Given the description of an element on the screen output the (x, y) to click on. 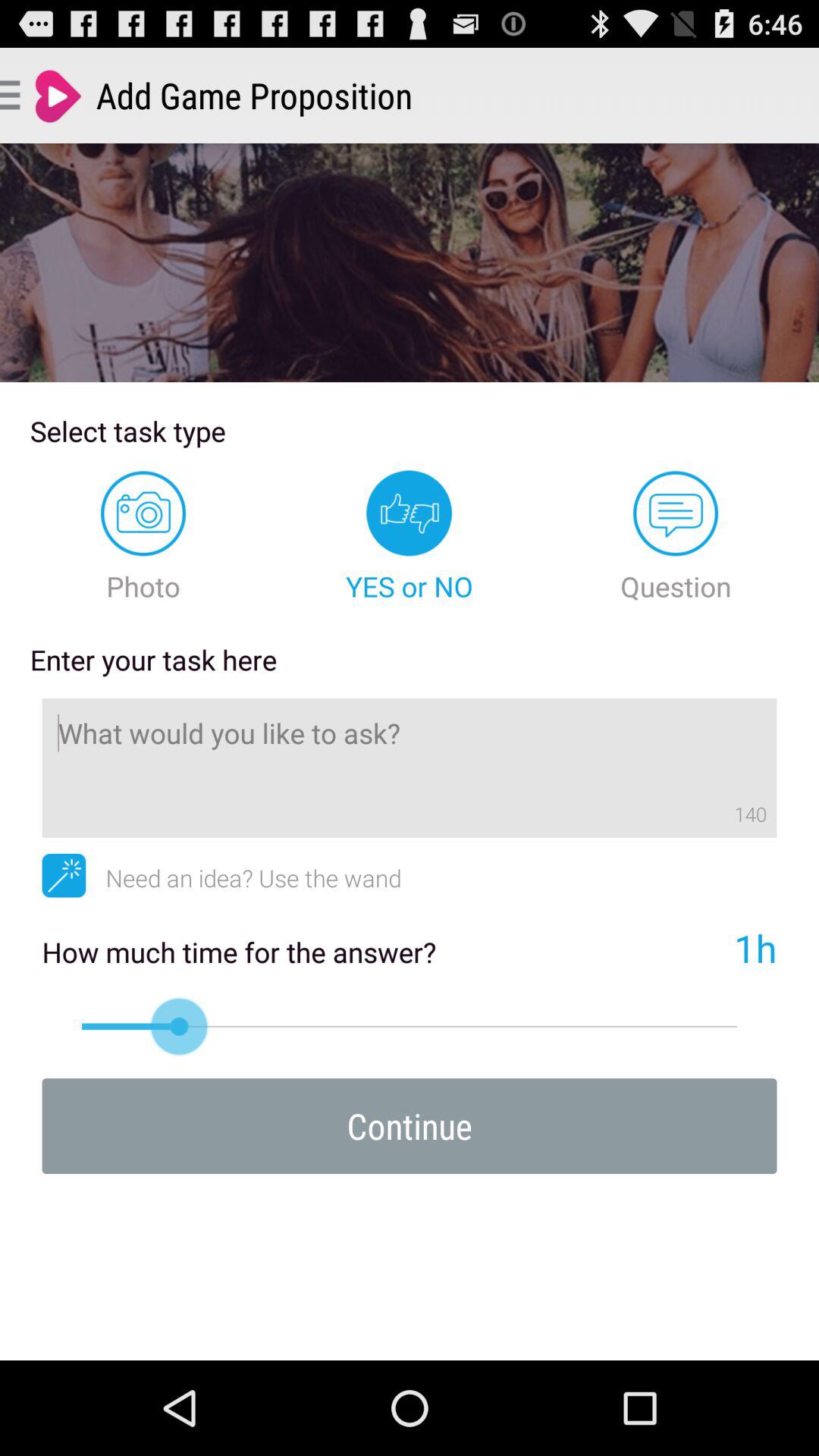
click new idea option (63, 875)
